Given the description of an element on the screen output the (x, y) to click on. 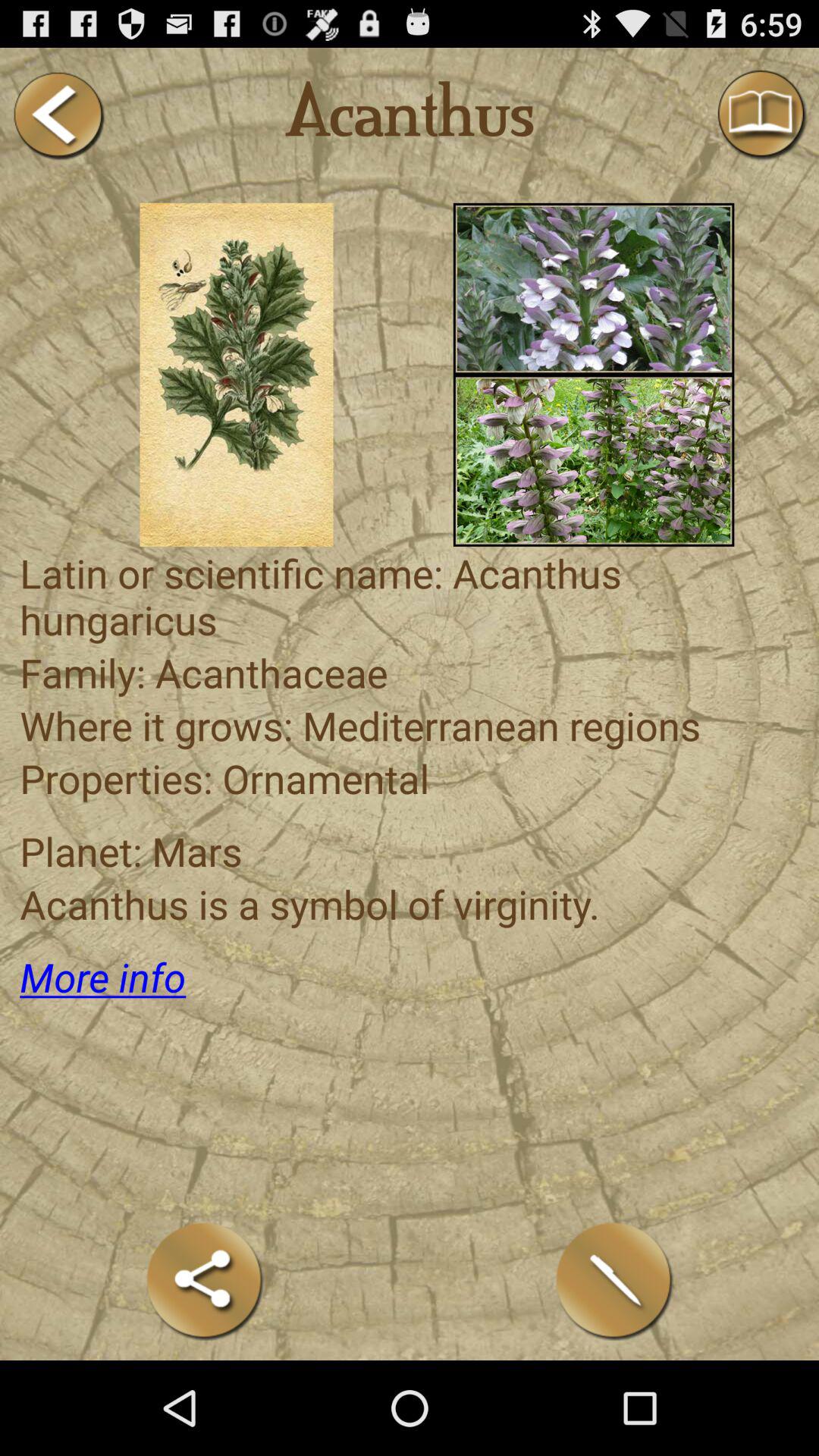
go to picture (593, 460)
